Given the description of an element on the screen output the (x, y) to click on. 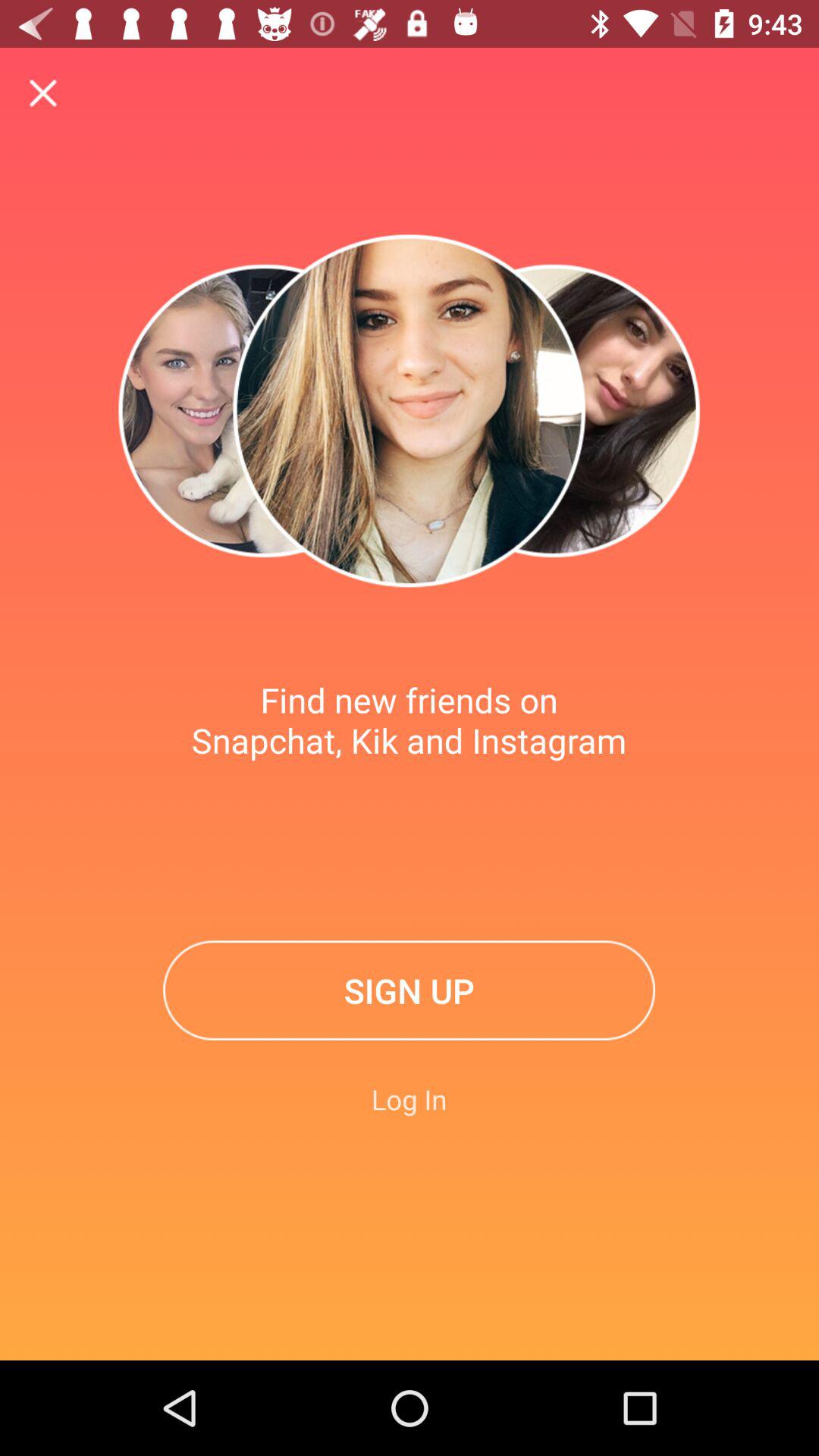
open icon at the top left corner (43, 93)
